Given the description of an element on the screen output the (x, y) to click on. 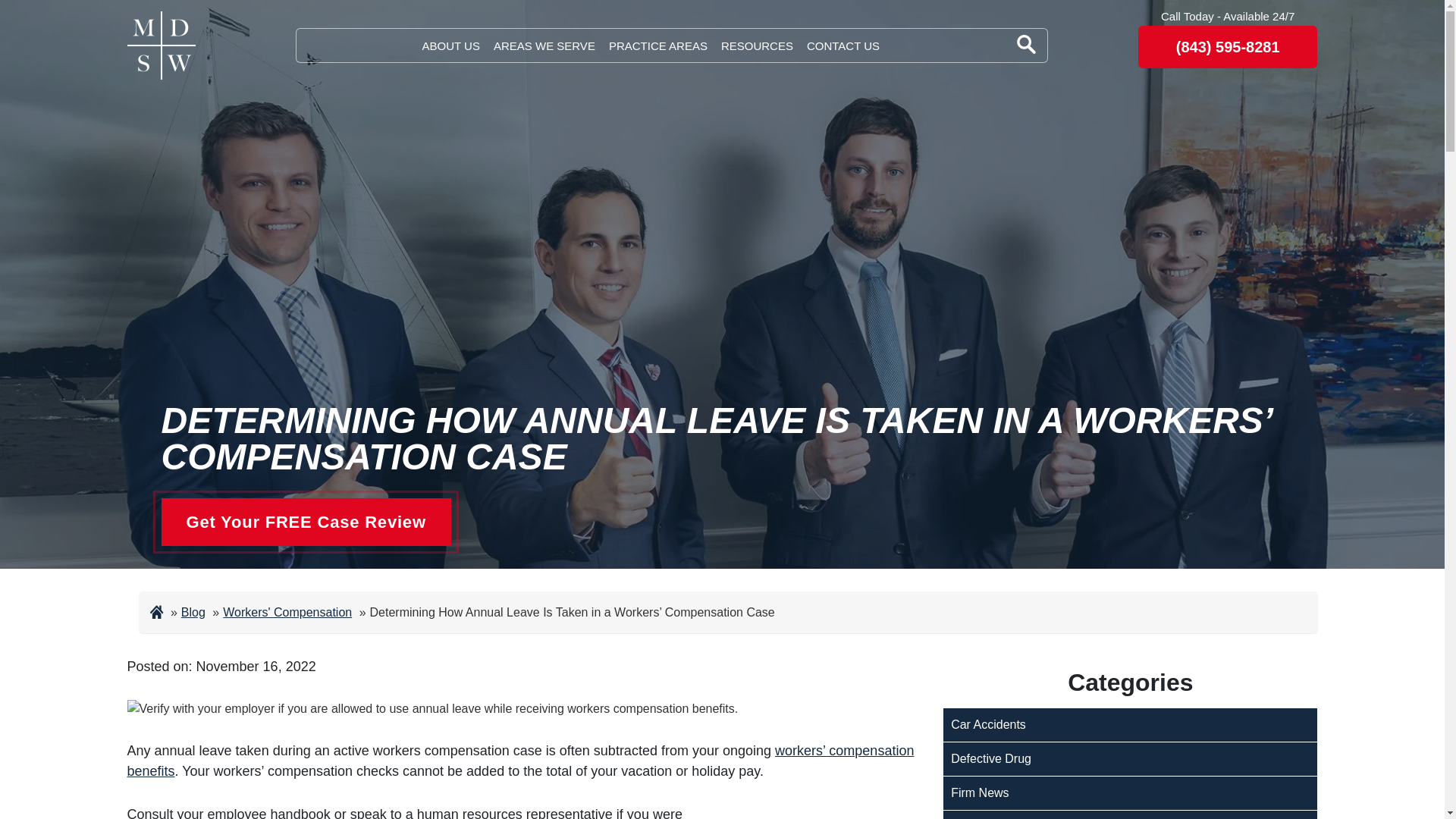
ABOUT US (451, 45)
phone (1227, 46)
PRACTICE AREAS (657, 45)
AREAS WE SERVE (544, 45)
RESOURCES (756, 45)
homepage (161, 45)
